Given the description of an element on the screen output the (x, y) to click on. 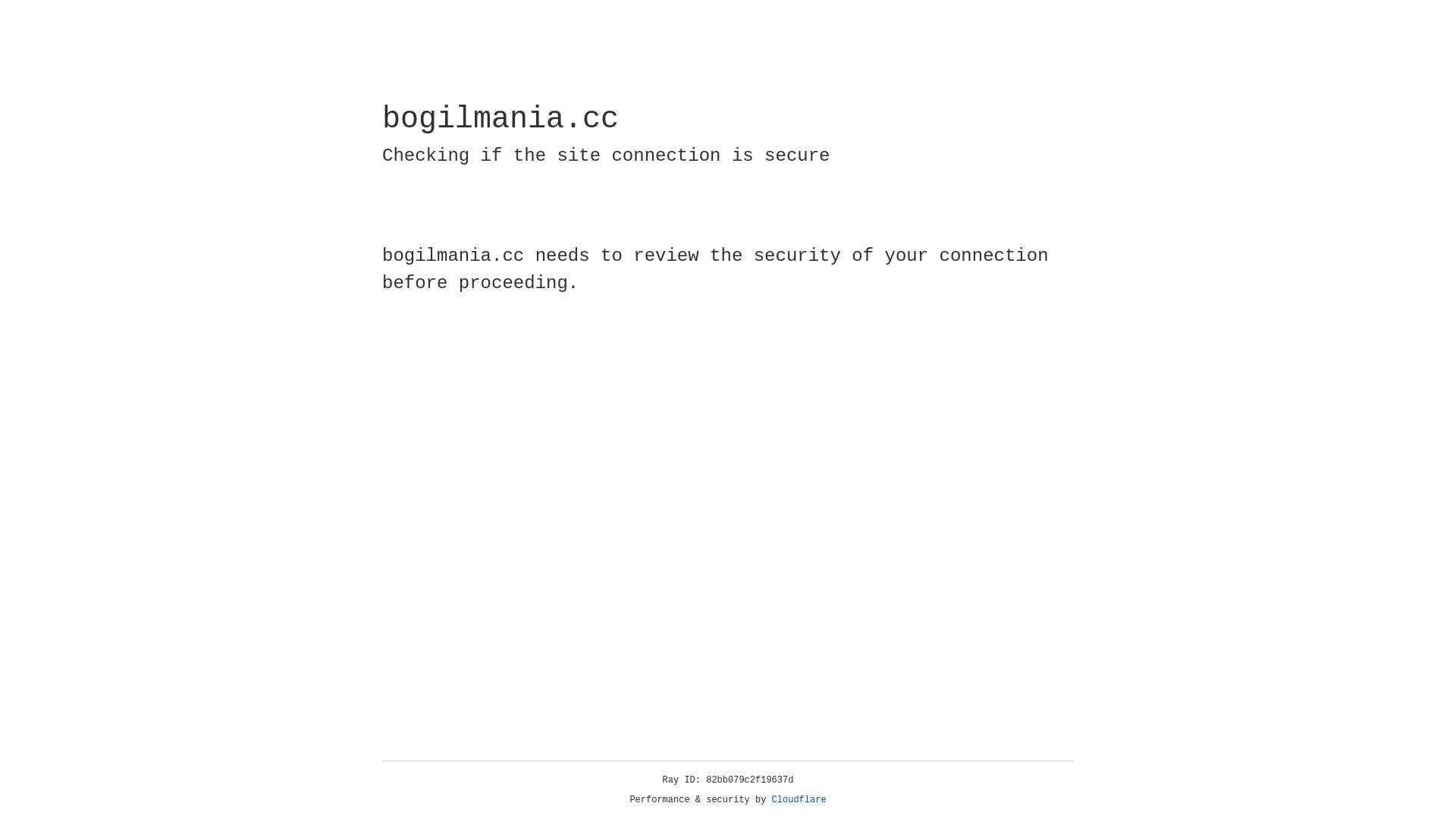
Cloudflare Element type: text (798, 799)
